Given the description of an element on the screen output the (x, y) to click on. 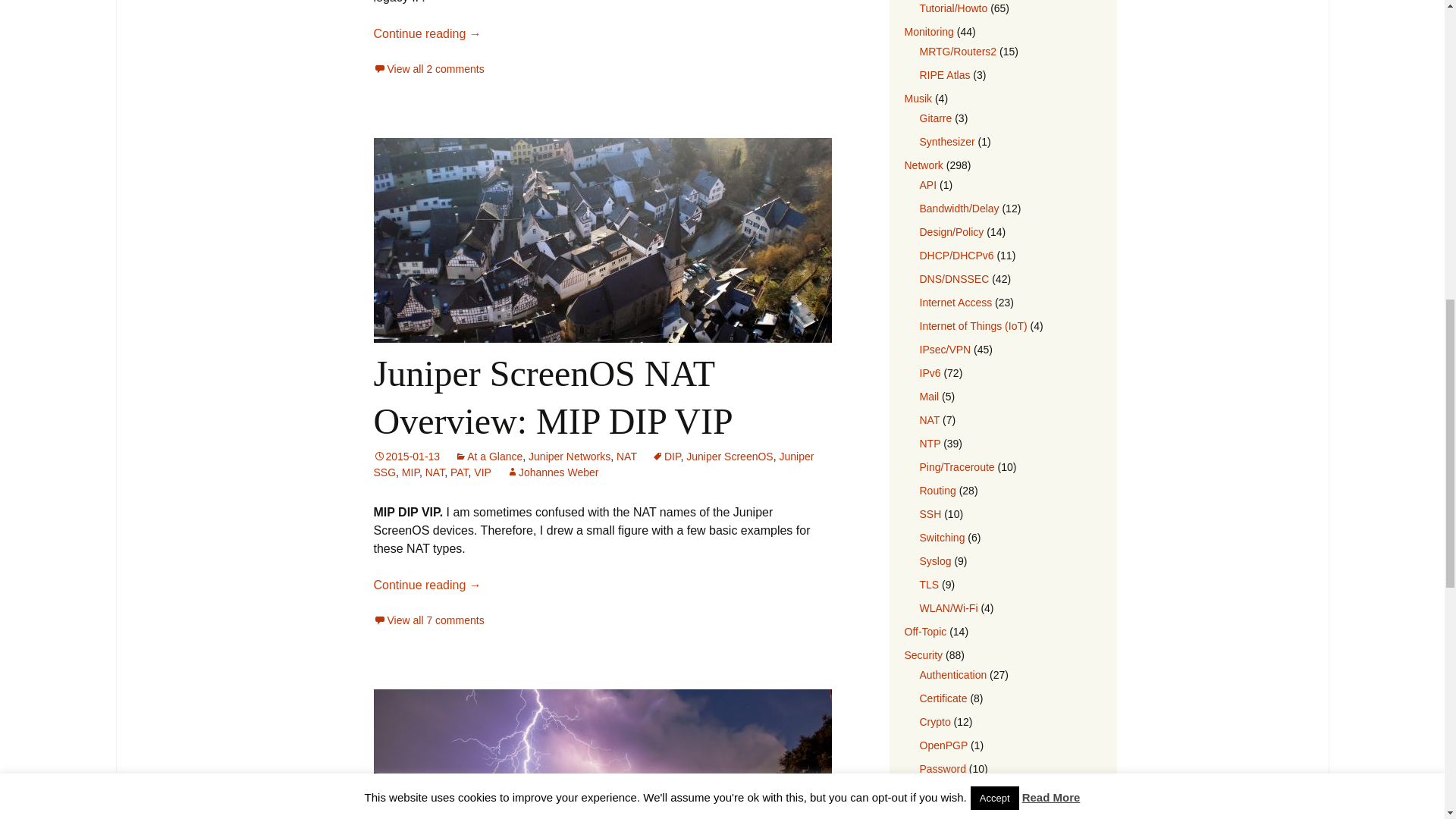
View all 2 comments (427, 69)
View all posts by Johannes Weber (552, 472)
Permalink to Juniper ScreenOS NAT Overview: MIP DIP VIP (405, 456)
